Given the description of an element on the screen output the (x, y) to click on. 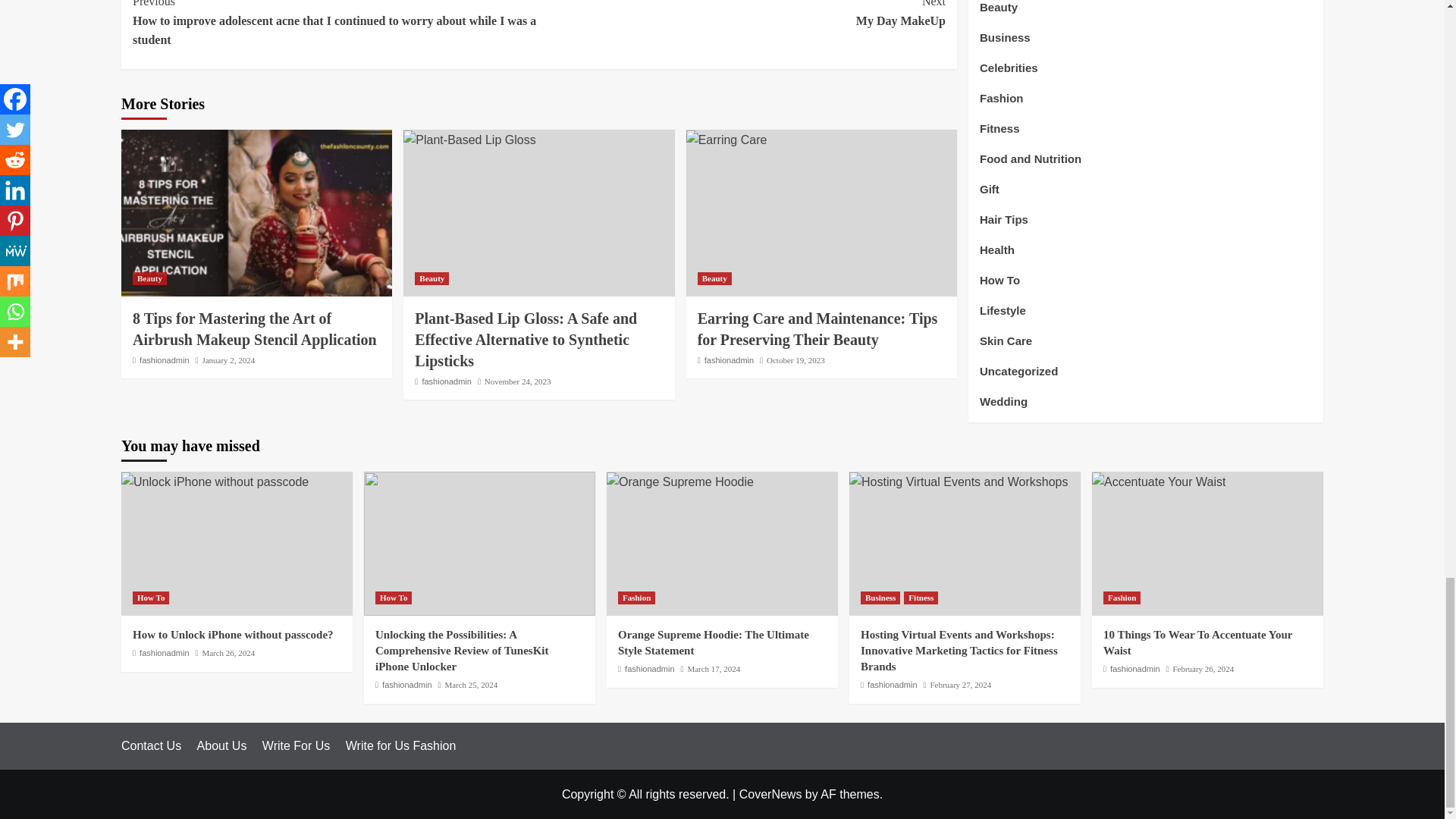
fashionadmin (164, 359)
Beauty (431, 278)
Beauty (149, 278)
January 2, 2024 (228, 359)
